Given the description of an element on the screen output the (x, y) to click on. 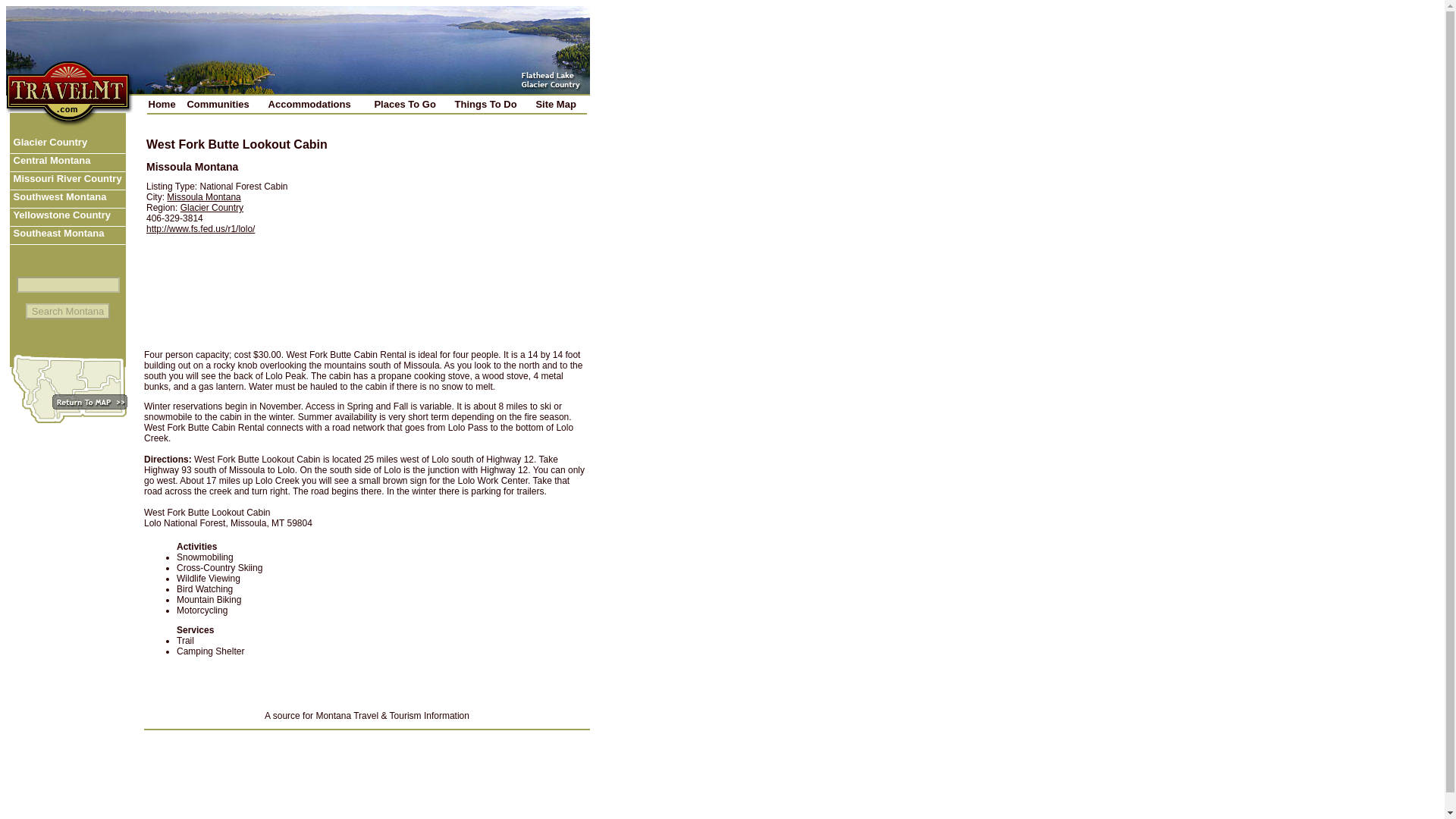
 Southwest Montana (67, 199)
Home (165, 103)
 Glacier Country (67, 144)
 Yellowstone Country (67, 217)
Communities (224, 103)
Glacier Country (211, 207)
 Missouri River Country (67, 180)
Places To Go (410, 103)
Things To Do (491, 103)
Search Montana (68, 311)
